Given the description of an element on the screen output the (x, y) to click on. 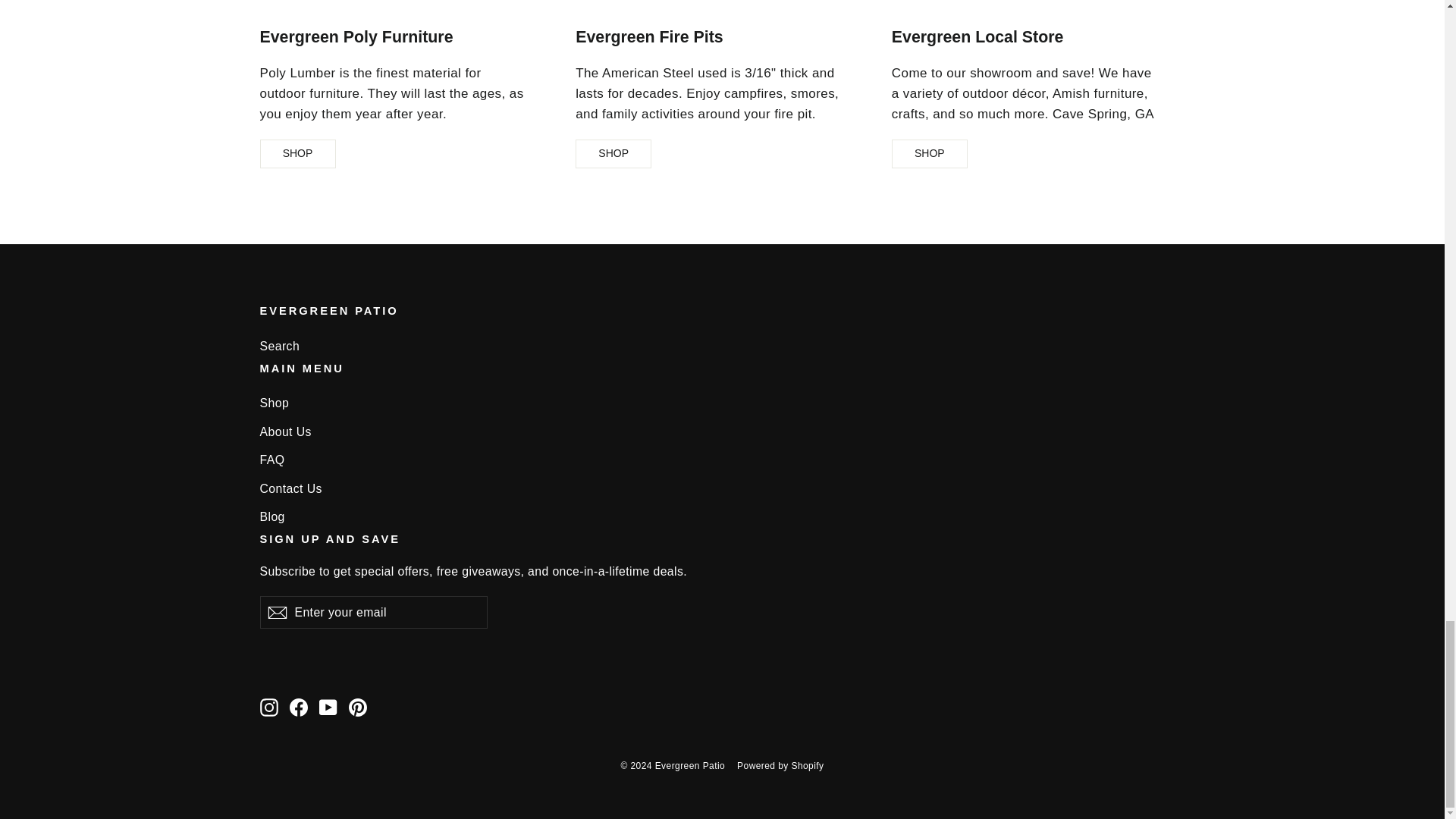
Evergreen Patio on YouTube (327, 706)
SHOP (612, 153)
Evergreen Patio on Facebook (298, 706)
Evergreen Patio on Pinterest (357, 706)
Evergreen Patio on Instagram (268, 706)
SHOP (929, 153)
SHOP (296, 153)
